Given the description of an element on the screen output the (x, y) to click on. 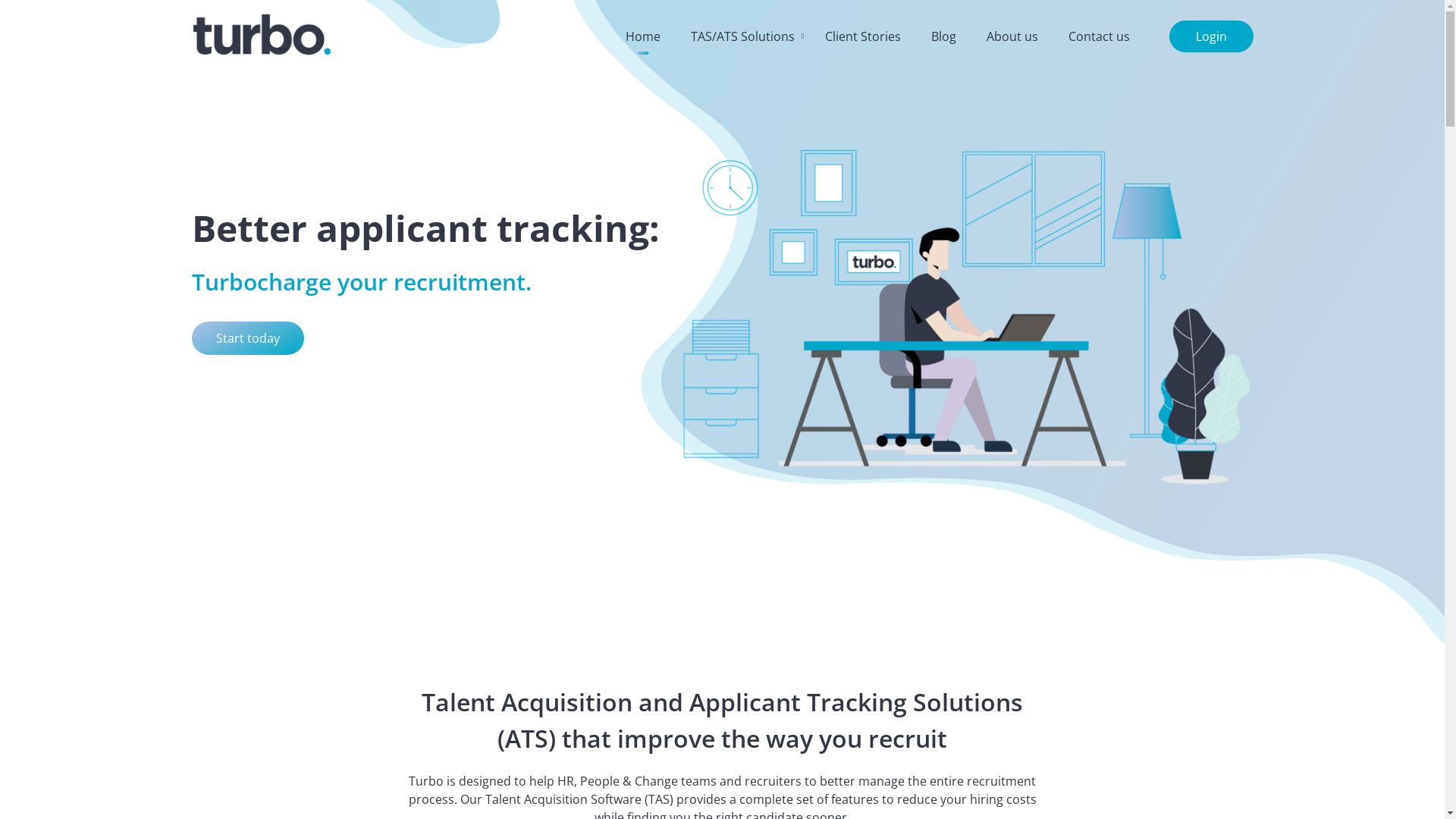
About us Element type: text (1011, 36)
Home Element type: text (641, 36)
Contact us Element type: text (1098, 36)
Login Element type: text (1211, 36)
Client Stories Element type: text (862, 36)
Start today Element type: text (247, 337)
Blog Element type: text (943, 36)
TAS/ATS Solutions Element type: text (741, 36)
